Given the description of an element on the screen output the (x, y) to click on. 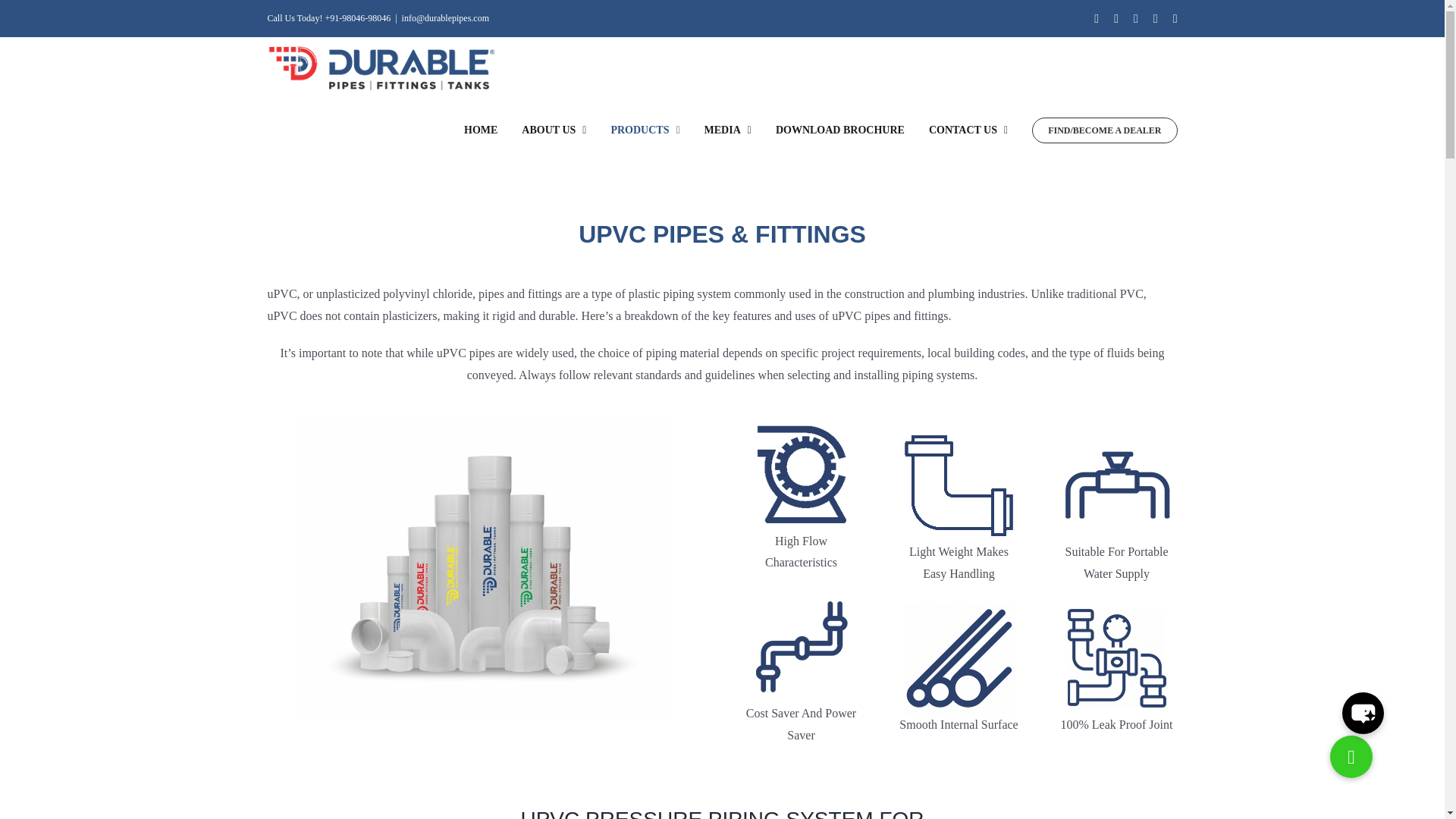
ABOUT US (553, 130)
DOWNLOAD BROCHURE (840, 130)
CONTACT US (967, 130)
PRODUCTS (644, 130)
